Given the description of an element on the screen output the (x, y) to click on. 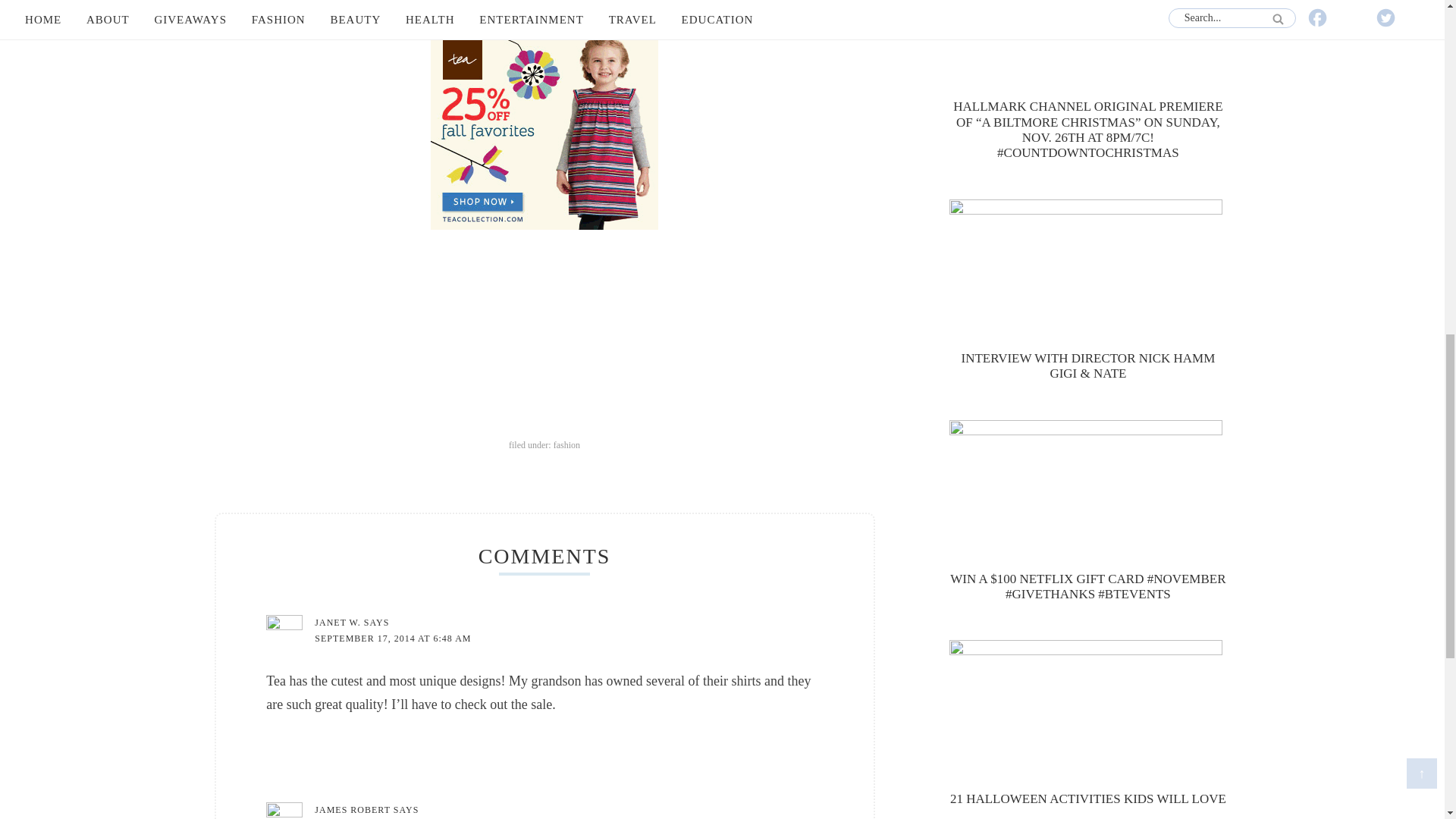
SEPTEMBER 17, 2014 AT 6:48 AM (392, 638)
21 HALLOWEEN ACTIVITIES KIDS WILL LOVE (1087, 798)
21 Halloween Activities Kids Will Love (1087, 713)
21 Halloween Activities Kids Will Love (1087, 798)
fashion (566, 444)
